Given the description of an element on the screen output the (x, y) to click on. 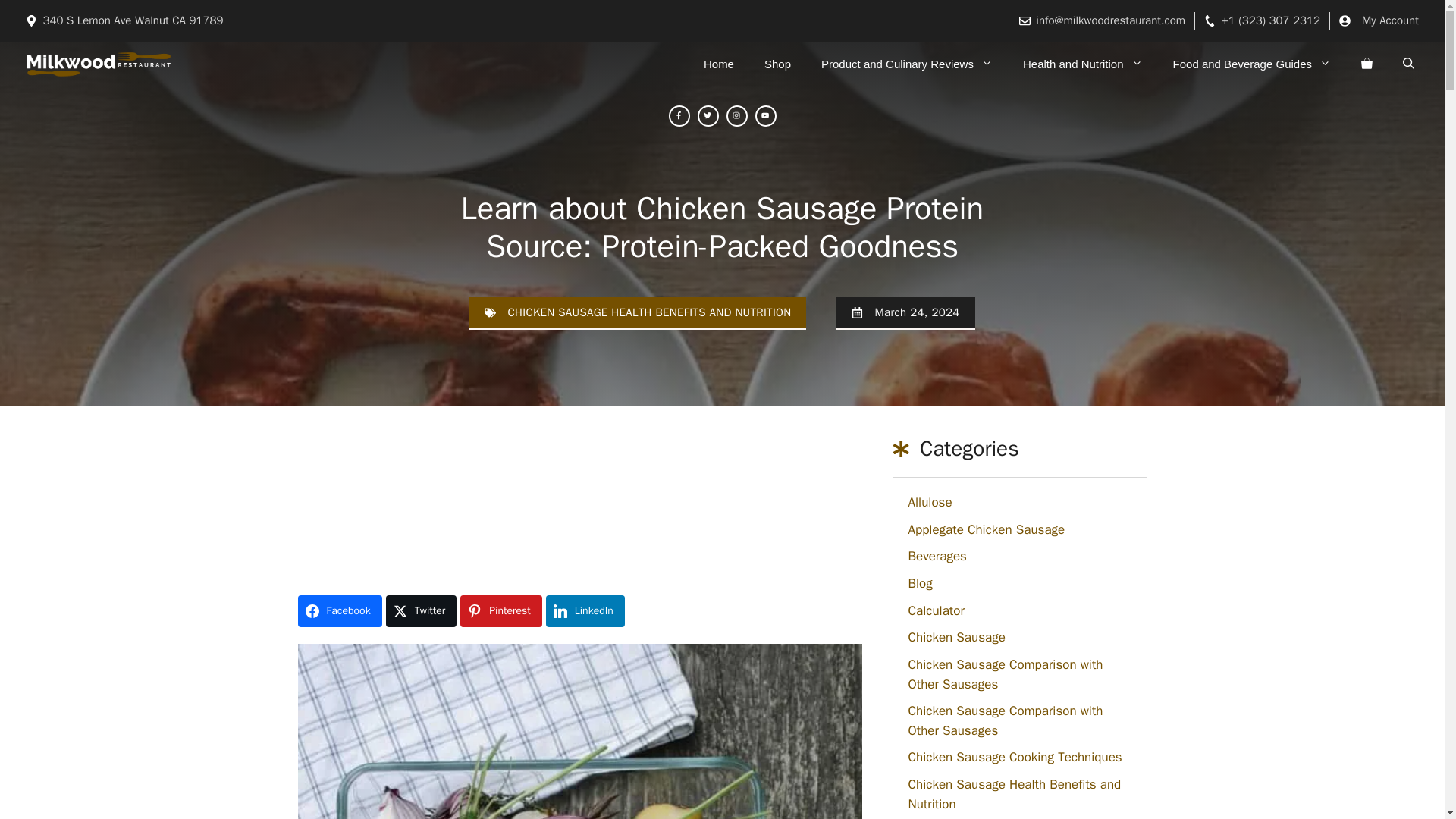
My Account (1389, 20)
Share on Pinterest (500, 611)
Share on Twitter (421, 611)
MilkwoodRestaurant (98, 63)
View your shopping cart (1366, 63)
Health and Nutrition (1082, 63)
Product and Culinary Reviews (906, 63)
Food and Beverage Guides (1251, 63)
Share on Facebook (339, 611)
